Given the description of an element on the screen output the (x, y) to click on. 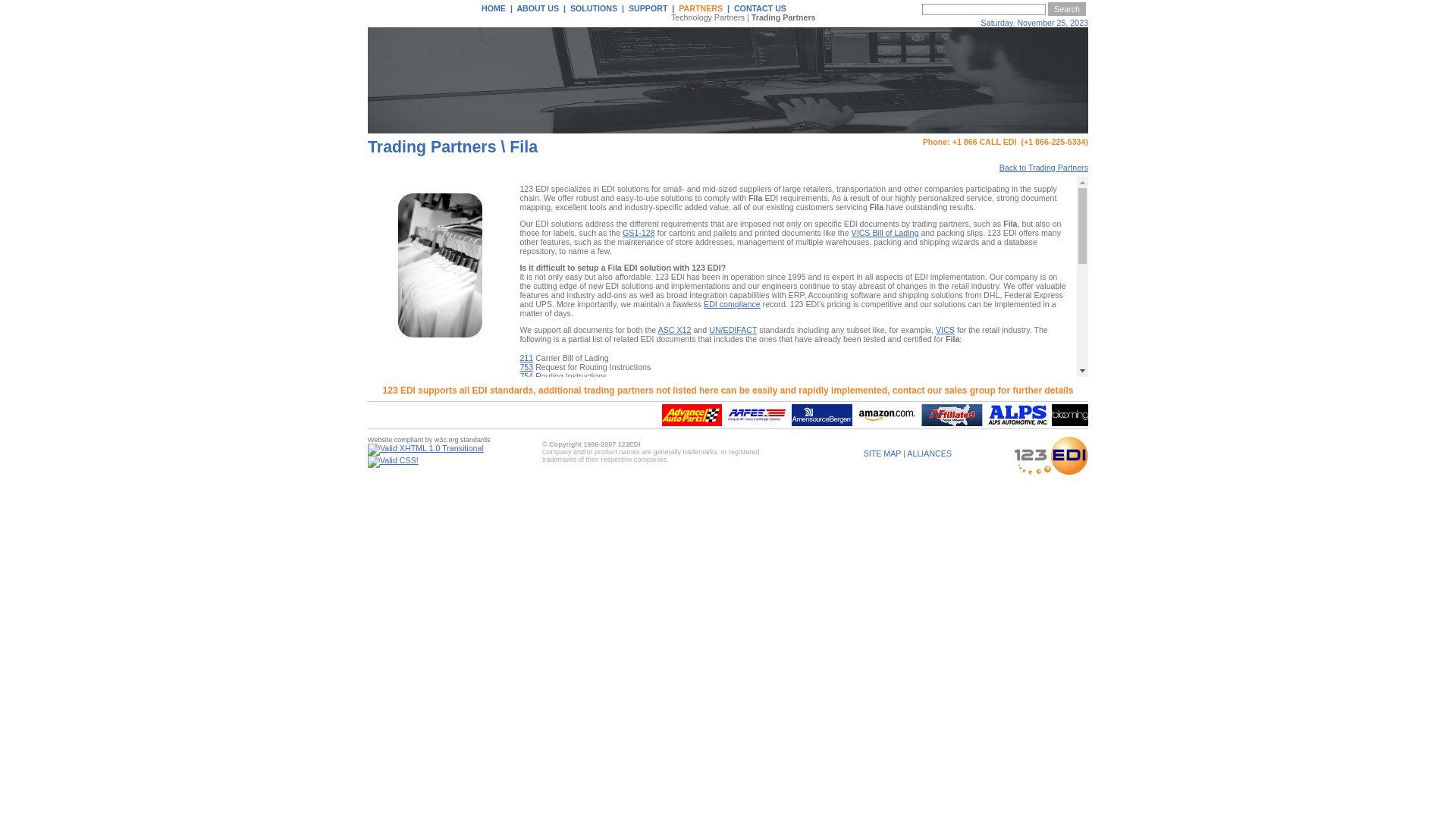
846 Element type: text (526, 447)
824 Element type: text (526, 420)
869 Element type: text (526, 529)
VICS Element type: text (944, 329)
940 Element type: text (526, 565)
Technology Partners Element type: text (707, 16)
812 Element type: text (526, 392)
EDI compliance Element type: text (731, 303)
753 Element type: text (526, 365)
870 Element type: text (526, 538)
880 Element type: text (526, 556)
PARTNERS Element type: text (700, 7)
875 Element type: text (526, 547)
VICS Bill of Lading Element type: text (885, 232)
SUPPORT Element type: text (648, 7)
850 Element type: text (526, 456)
CONTACT US Element type: text (760, 7)
810 Element type: text (526, 383)
860 Element type: text (526, 492)
UN/EDIFACT Element type: text (732, 329)
ALLIANCES Element type: text (928, 453)
997 Element type: text (526, 583)
852 Element type: text (526, 465)
ABOUT US Element type: text (537, 7)
HOME Element type: text (493, 7)
Trading Partners Element type: text (783, 16)
945 Element type: text (526, 574)
SITE MAP Element type: text (882, 453)
GS1-128 Element type: text (638, 232)
754 Element type: text (526, 374)
864 Element type: text (526, 520)
832 Element type: text (526, 438)
820 Element type: text (526, 411)
 Search  Element type: text (1066, 8)
830 Element type: text (526, 429)
856 Element type: text (526, 483)
816 Element type: text (526, 401)
SOLUTIONS Element type: text (593, 7)
Solutions Element type: text (618, 618)
Back to Trading Partners Element type: text (1043, 167)
211 Element type: text (526, 356)
ASC X12 Element type: text (674, 329)
855 Element type: text (526, 474)
861 Element type: text (526, 502)
